Given the description of an element on the screen output the (x, y) to click on. 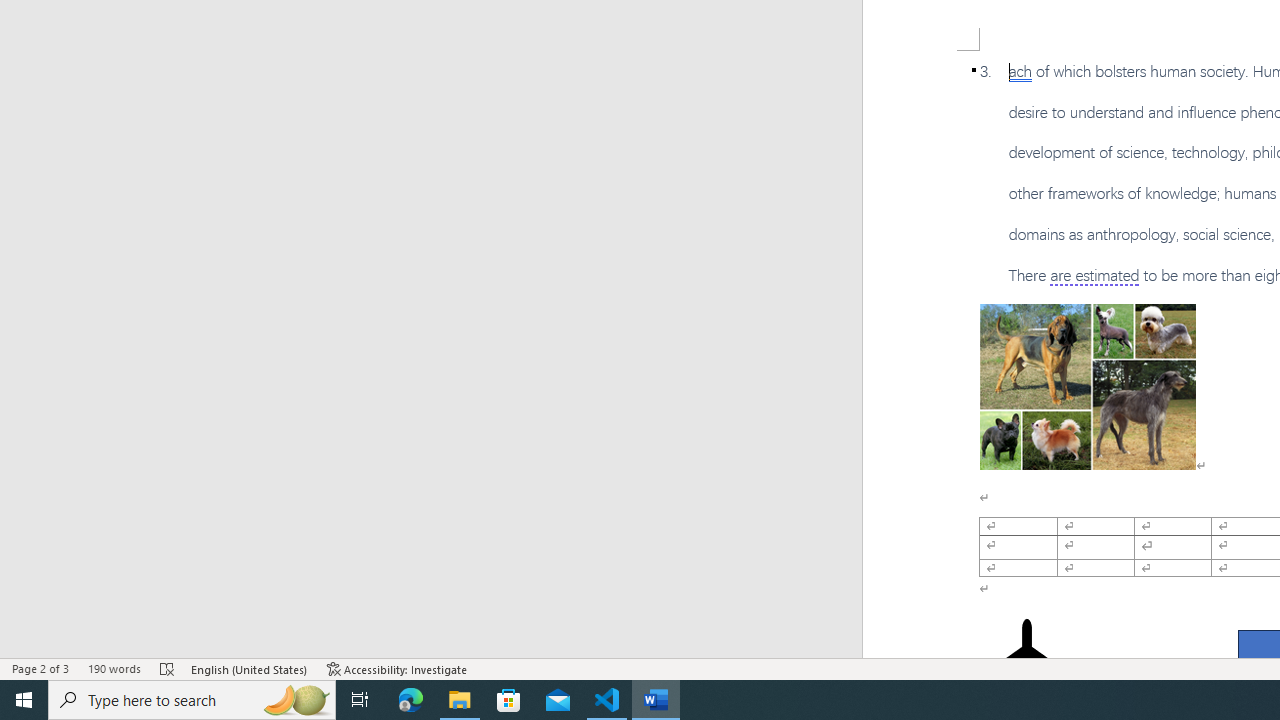
Morphological variation in six dogs (1087, 386)
Page Number Page 2 of 3 (39, 668)
Accessibility Checker Accessibility: Investigate (397, 668)
Language English (United States) (250, 668)
Spelling and Grammar Check Errors (168, 668)
Airplane with solid fill (1026, 657)
